Given the description of an element on the screen output the (x, y) to click on. 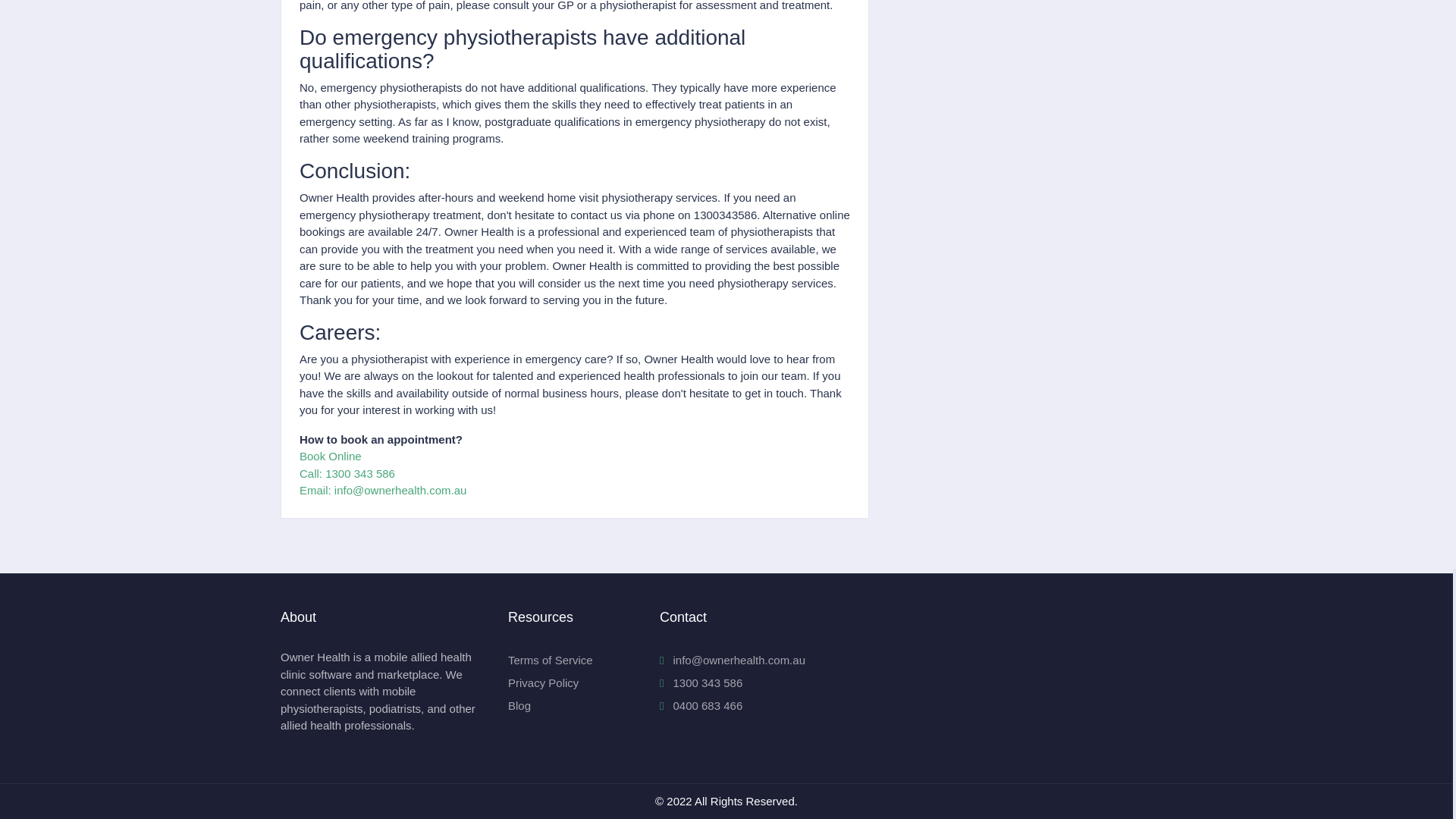
Privacy Policy (543, 682)
Terms of Service (550, 659)
Call: 1300 343 586 (346, 472)
Book Online (330, 455)
